Given the description of an element on the screen output the (x, y) to click on. 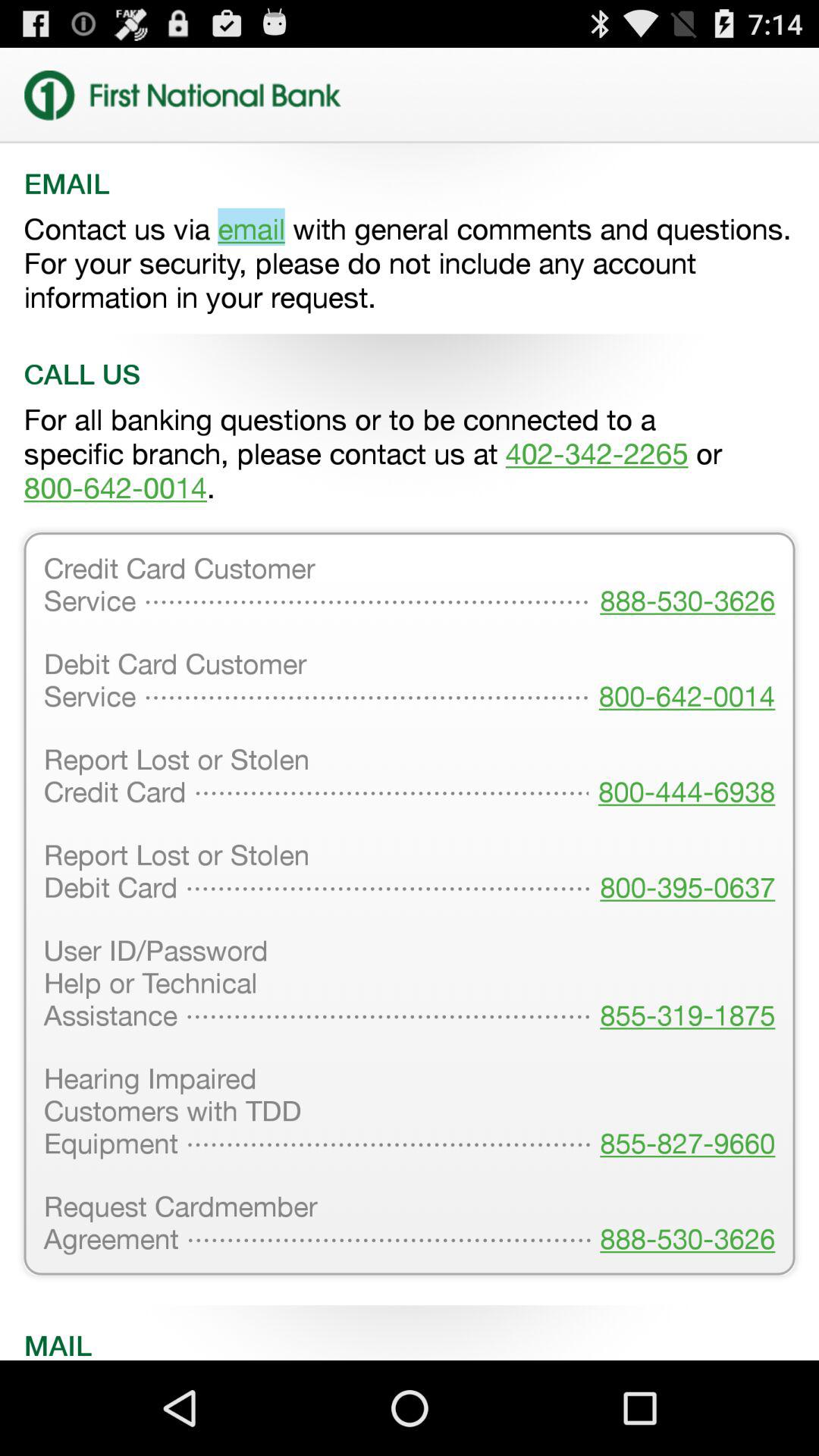
turn off the item to the right of user id password icon (682, 1112)
